Given the description of an element on the screen output the (x, y) to click on. 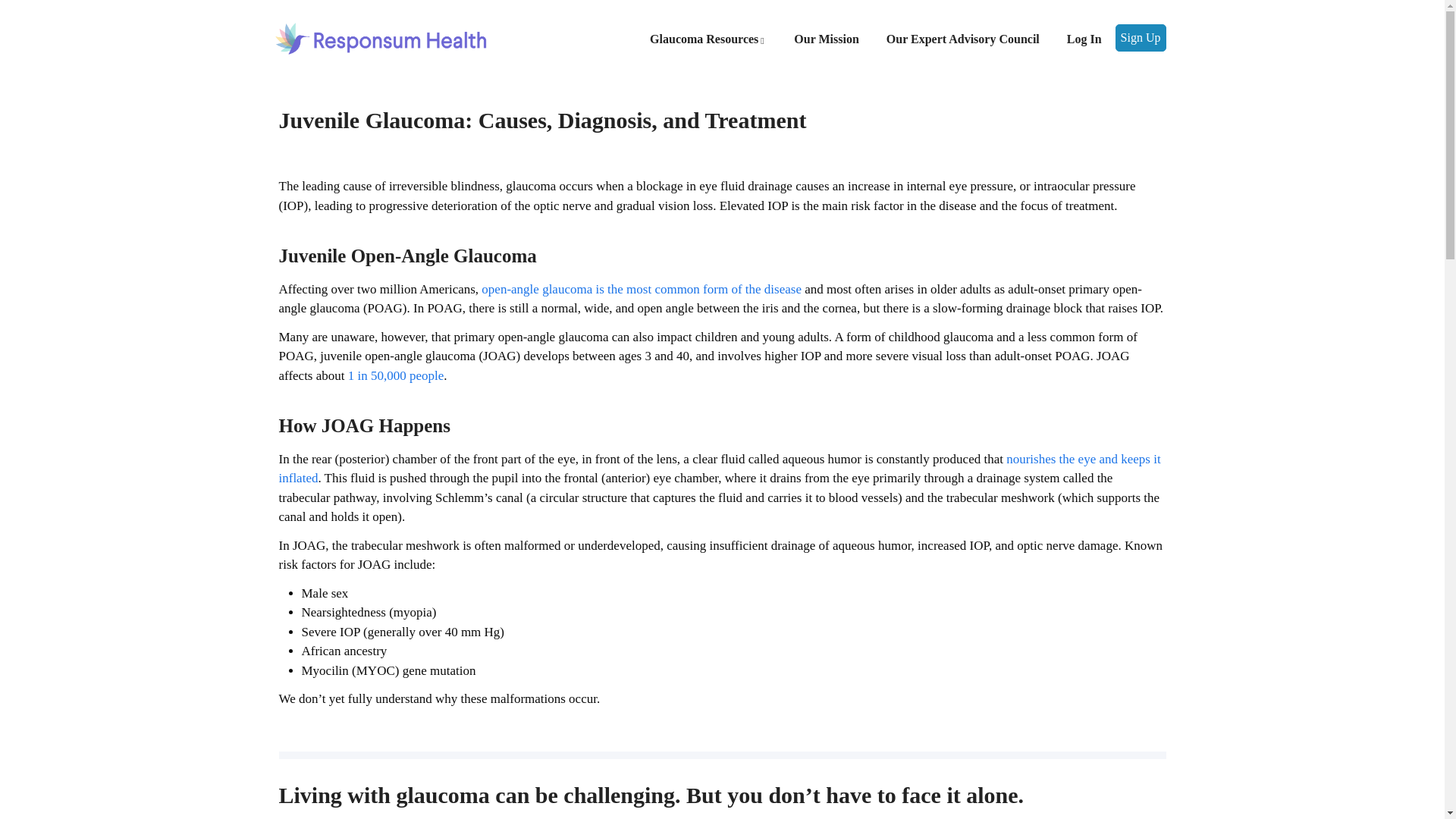
Glaucoma Resources (708, 39)
